Given the description of an element on the screen output the (x, y) to click on. 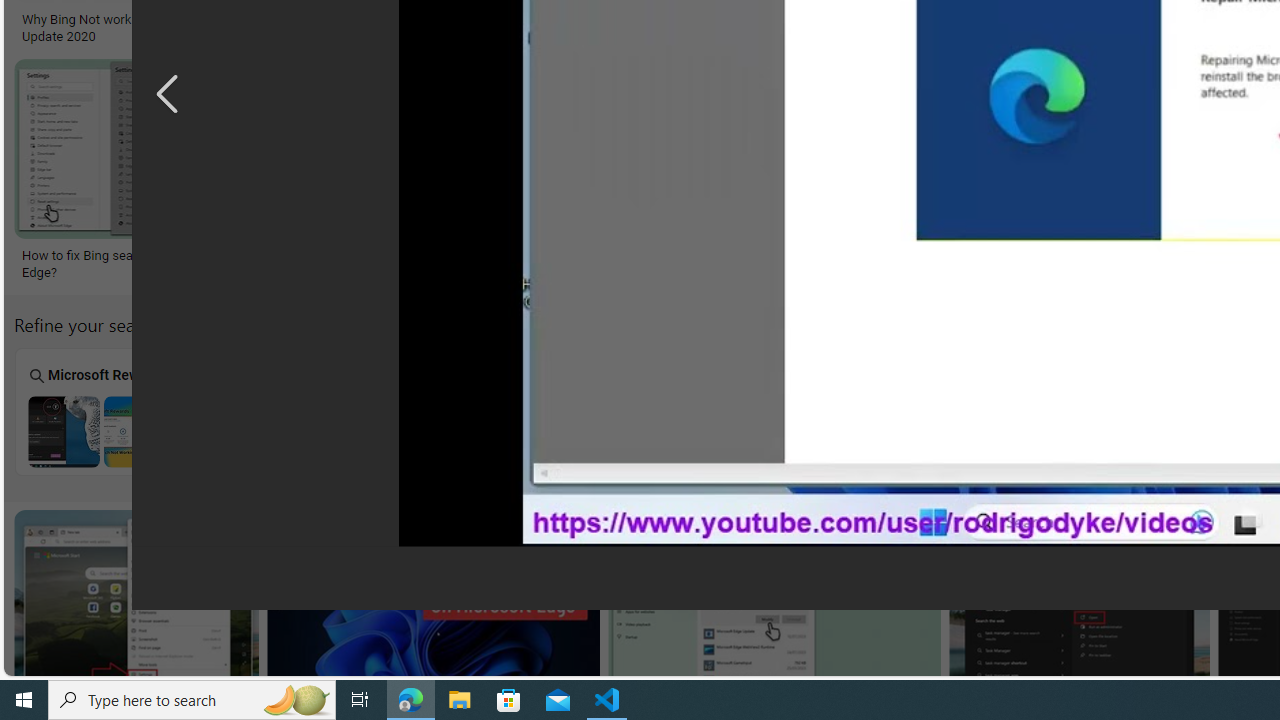
Bing Search the Web for Image Not Working Web For (1181, 411)
Bing Search Not Working On My Tablet My Tablet (281, 411)
Microsoft Rewards (101, 411)
Bing Search Not Working Properly Properly (1002, 411)
My Tablet (281, 411)
Points (821, 411)
Bing Search Not Working On My Tablet (281, 431)
Why Bing Not working on windows 10? Update 2020 (135, 27)
Microsoft Rewards Bing Search Not Working Microsoft Rewards (101, 411)
1:19 (299, 528)
Bing Search Points Not Working Points (821, 411)
